Given the description of an element on the screen output the (x, y) to click on. 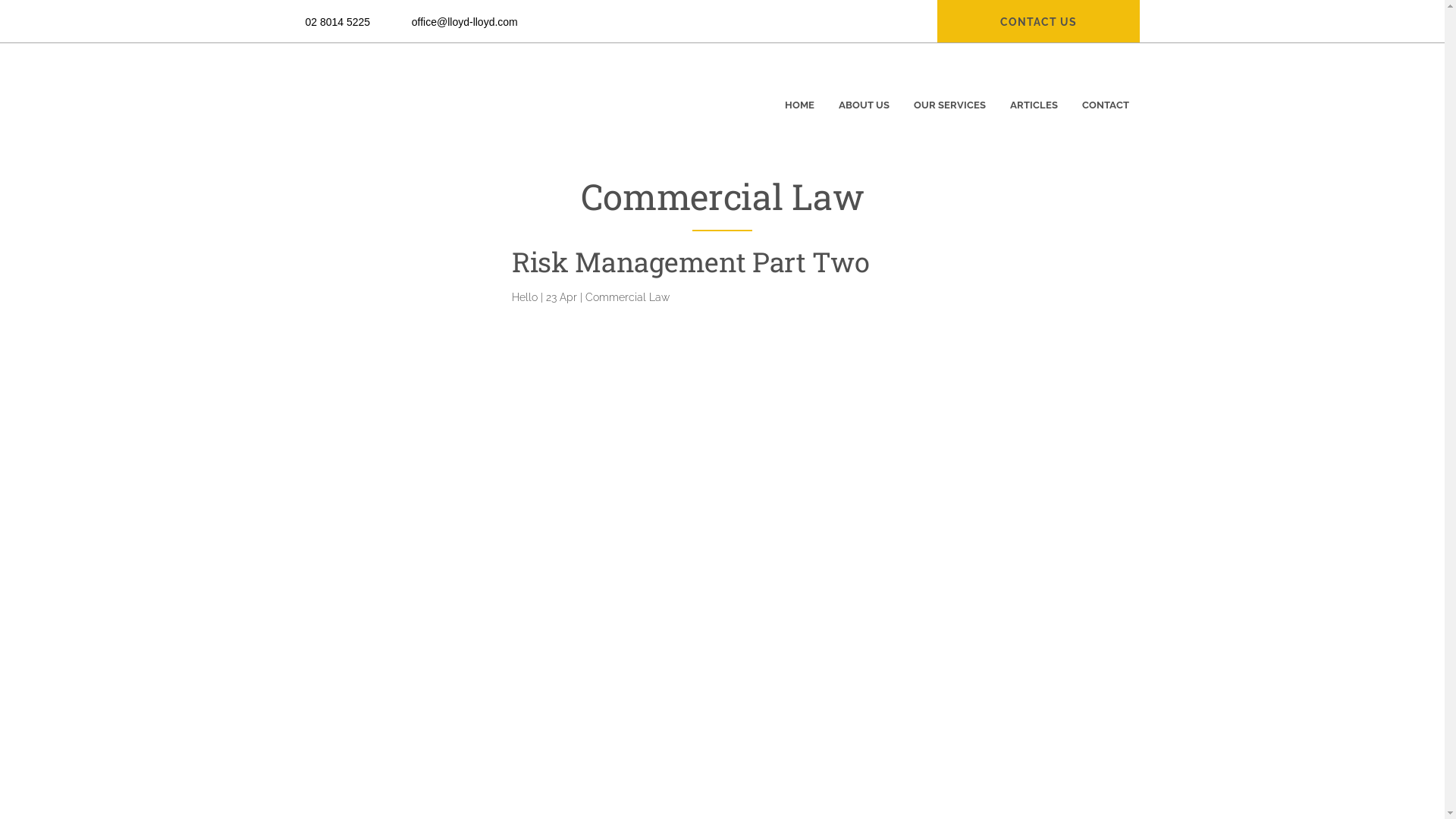
Hello Element type: text (524, 297)
ABOUT US Element type: text (864, 94)
CONTACT US Element type: text (1037, 21)
office@lloyd-lloyd.com Element type: text (464, 21)
CONTACT Element type: text (1104, 94)
02 8014 5225 Element type: text (337, 21)
Risk Management Part Two Element type: text (690, 261)
OUR SERVICES Element type: text (948, 94)
HOME Element type: text (798, 94)
Risk Management Part Two Element type: hover (374, 314)
ARTICLES Element type: text (1033, 94)
Commercial Law Element type: text (627, 297)
